Given the description of an element on the screen output the (x, y) to click on. 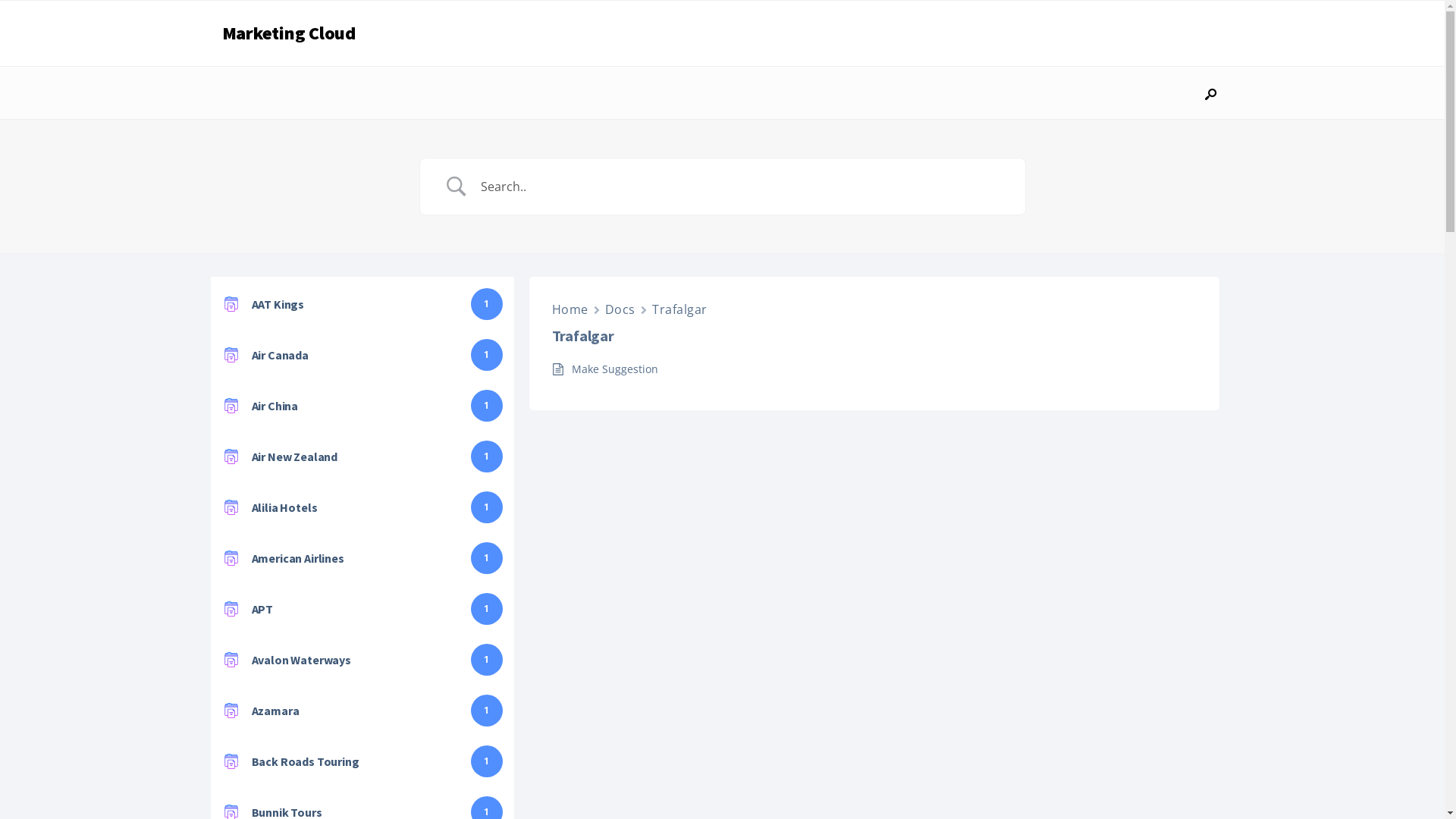
Trafalgar Element type: text (679, 309)
Home Element type: text (570, 309)
Make Suggestion Element type: text (614, 368)
Docs Element type: text (620, 309)
Marketing Cloud Element type: text (287, 32)
